Given the description of an element on the screen output the (x, y) to click on. 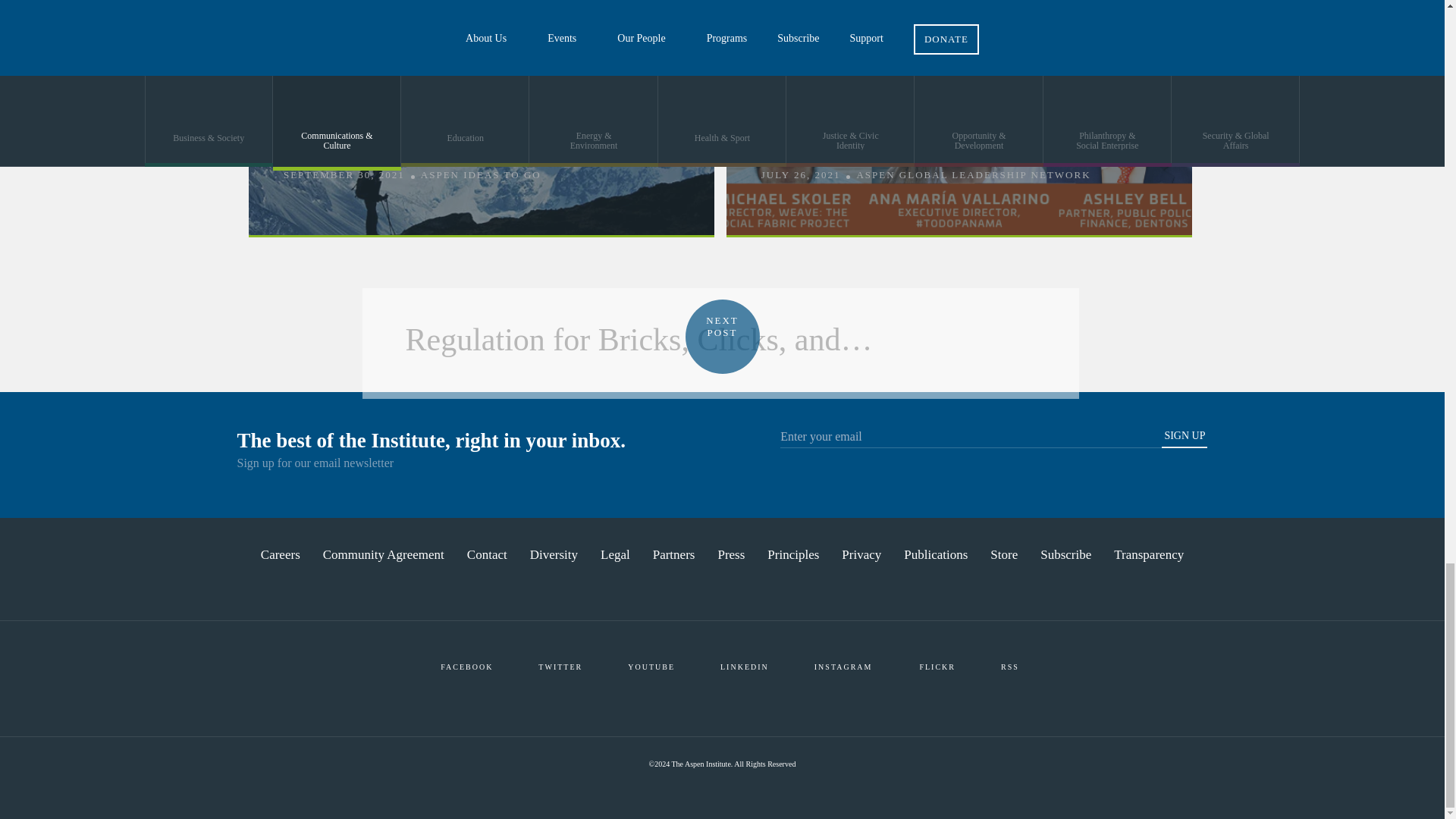
How Do We Build Trust? (959, 122)
How do we cultivate emotions of excitement and hope (481, 122)
SIGN UP (1184, 438)
